Given the description of an element on the screen output the (x, y) to click on. 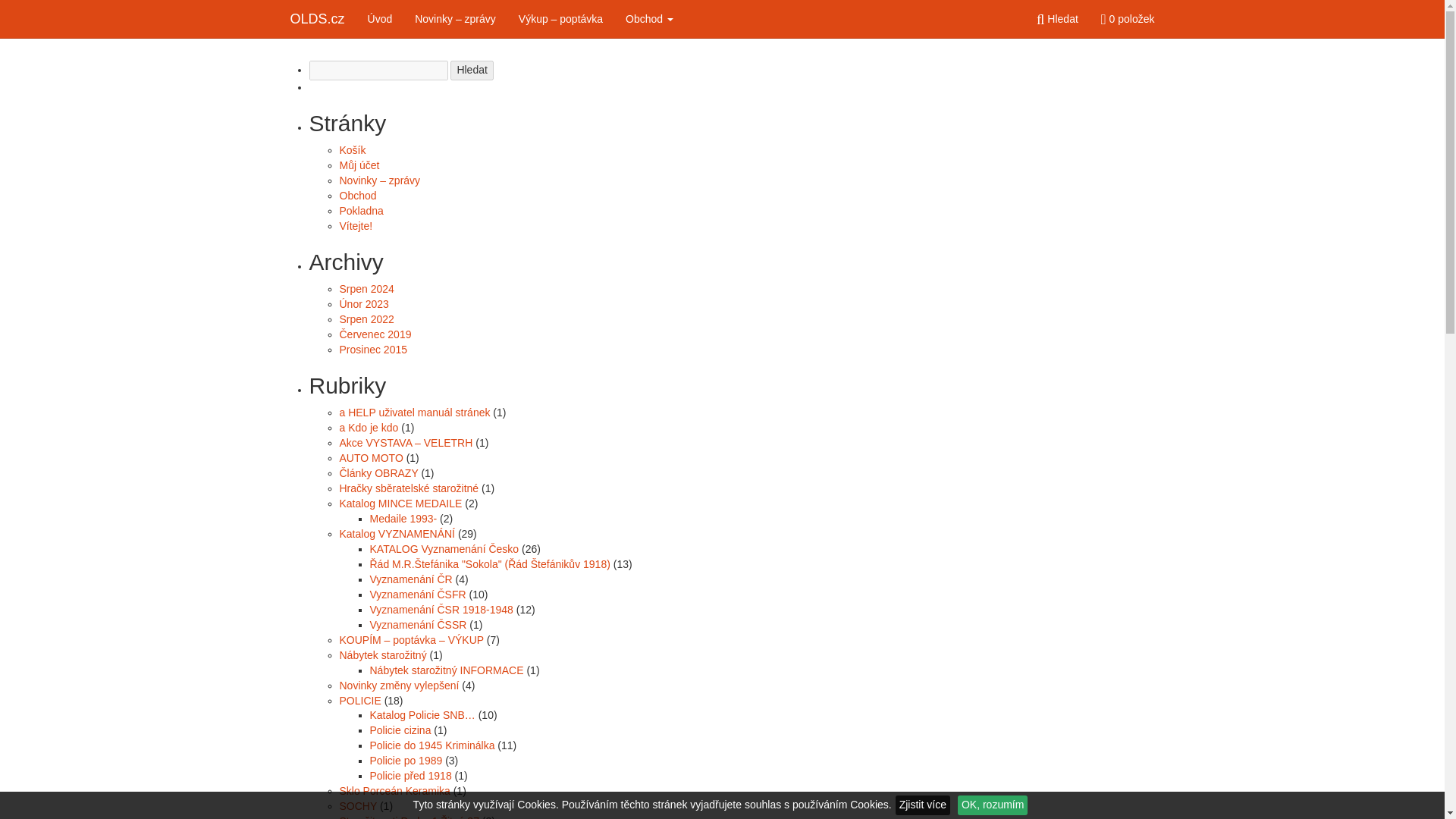
AUTO MOTO (371, 458)
Obchod (649, 18)
Hledat (1057, 18)
Medaile 1993- (403, 518)
Obchod (649, 18)
Katalog MINCE MEDAILE (401, 503)
Prosinec 2015 (373, 349)
Hledat (471, 70)
a Kdo je kdo (368, 427)
Srpen 2022 (366, 318)
Obchod (358, 195)
Hledat (471, 70)
Srpen 2024 (366, 288)
Pokladna (361, 210)
OLDS.cz (317, 18)
